Given the description of an element on the screen output the (x, y) to click on. 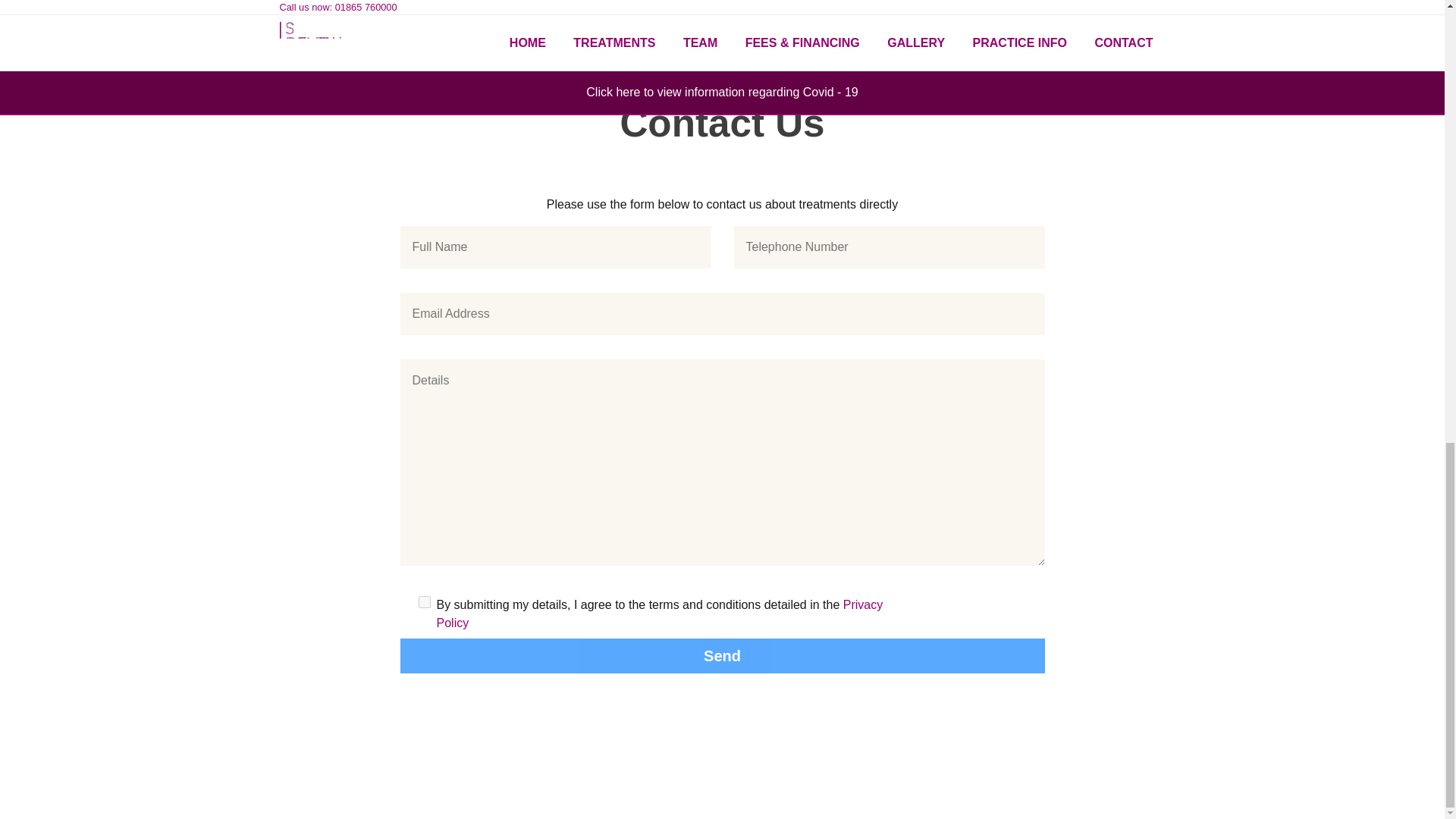
Send (722, 655)
1 (424, 602)
Send (722, 655)
Privacy Policy (659, 613)
